Given the description of an element on the screen output the (x, y) to click on. 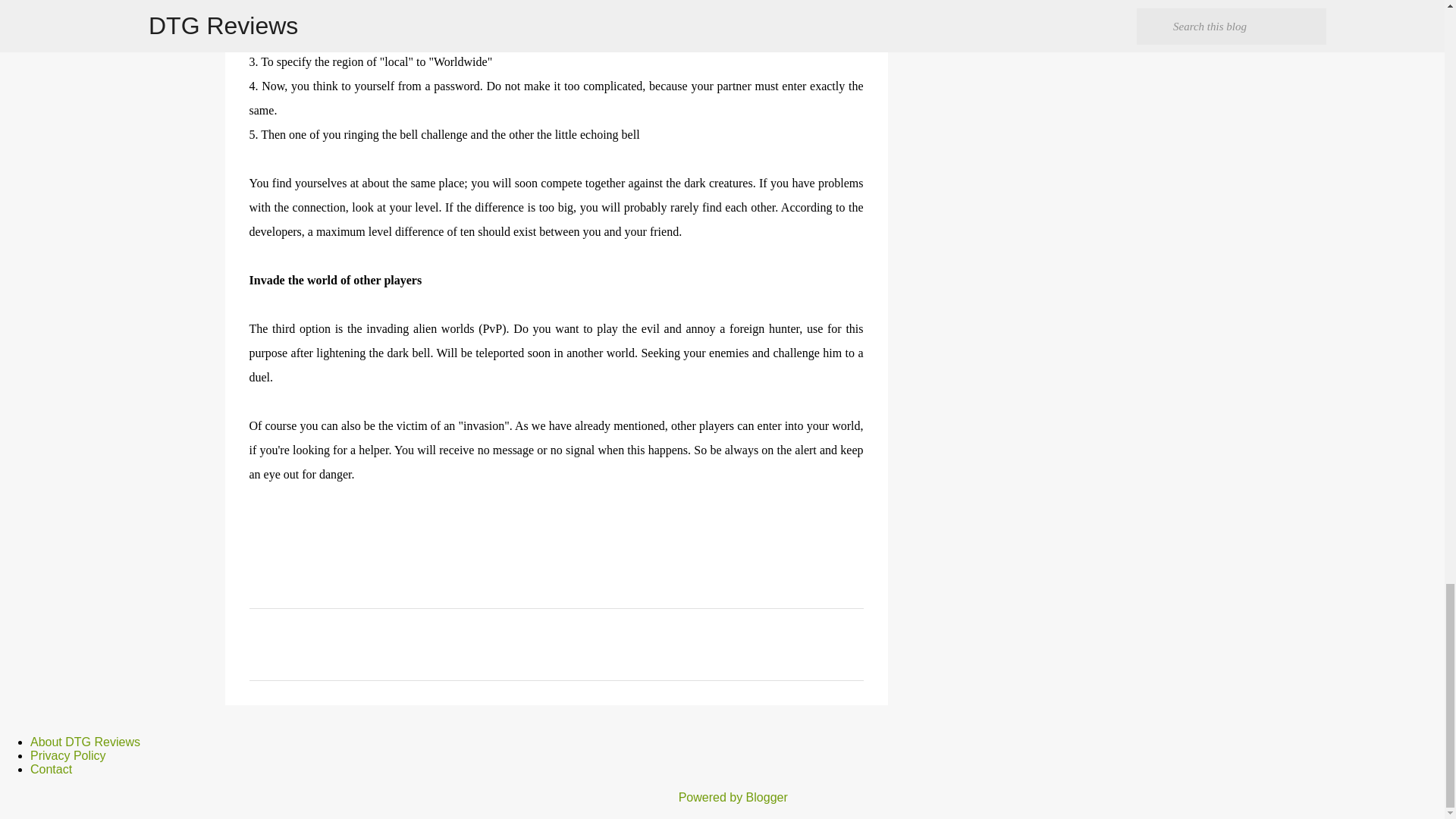
Powered by Blogger (721, 797)
Contact (50, 768)
About DTG Reviews (84, 741)
Privacy Policy (68, 755)
